Given the description of an element on the screen output the (x, y) to click on. 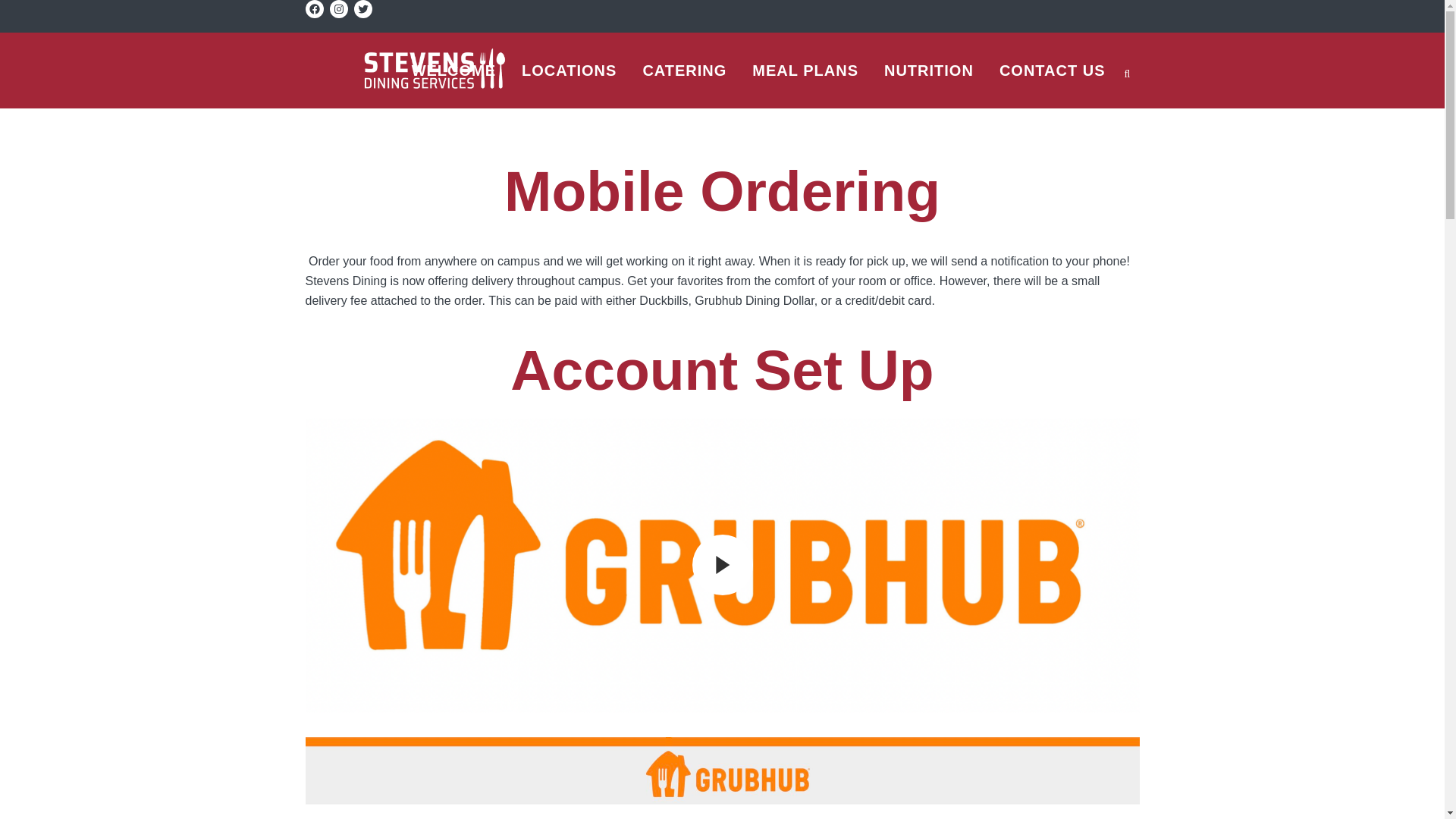
NUTRITION (928, 70)
CATERING (683, 70)
MEAL PLANS (804, 70)
Twitter (362, 9)
Facebook (313, 9)
Instagram (338, 9)
WELCOME (453, 70)
LOCATIONS (568, 70)
